Given the description of an element on the screen output the (x, y) to click on. 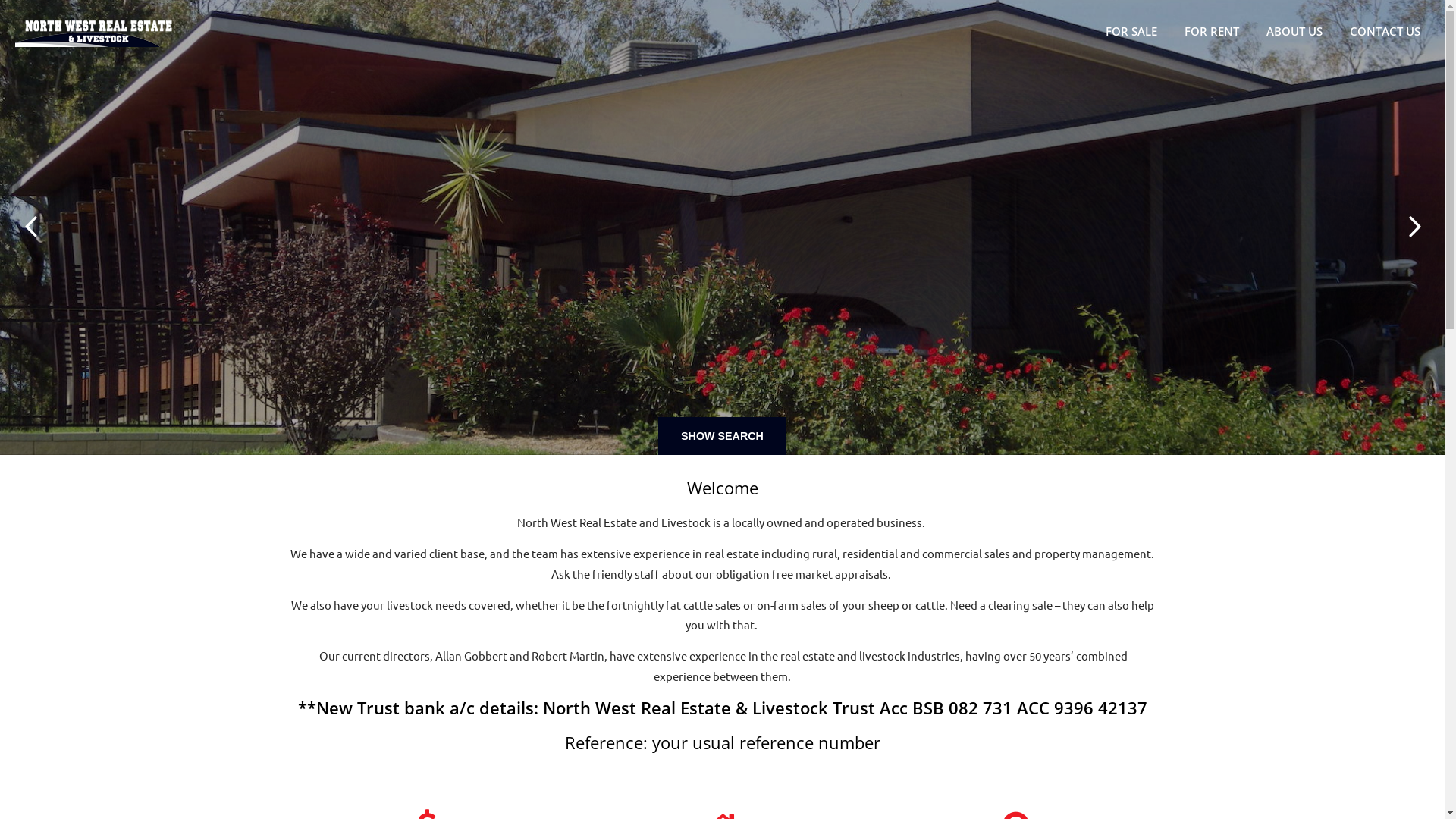
FOR RENT Element type: text (1216, 31)
CONTACT US Element type: text (1389, 31)
FOR SALE Element type: text (1135, 31)
ABOUT US Element type: text (1298, 31)
SHOW SEARCH Element type: text (722, 436)
